Given the description of an element on the screen output the (x, y) to click on. 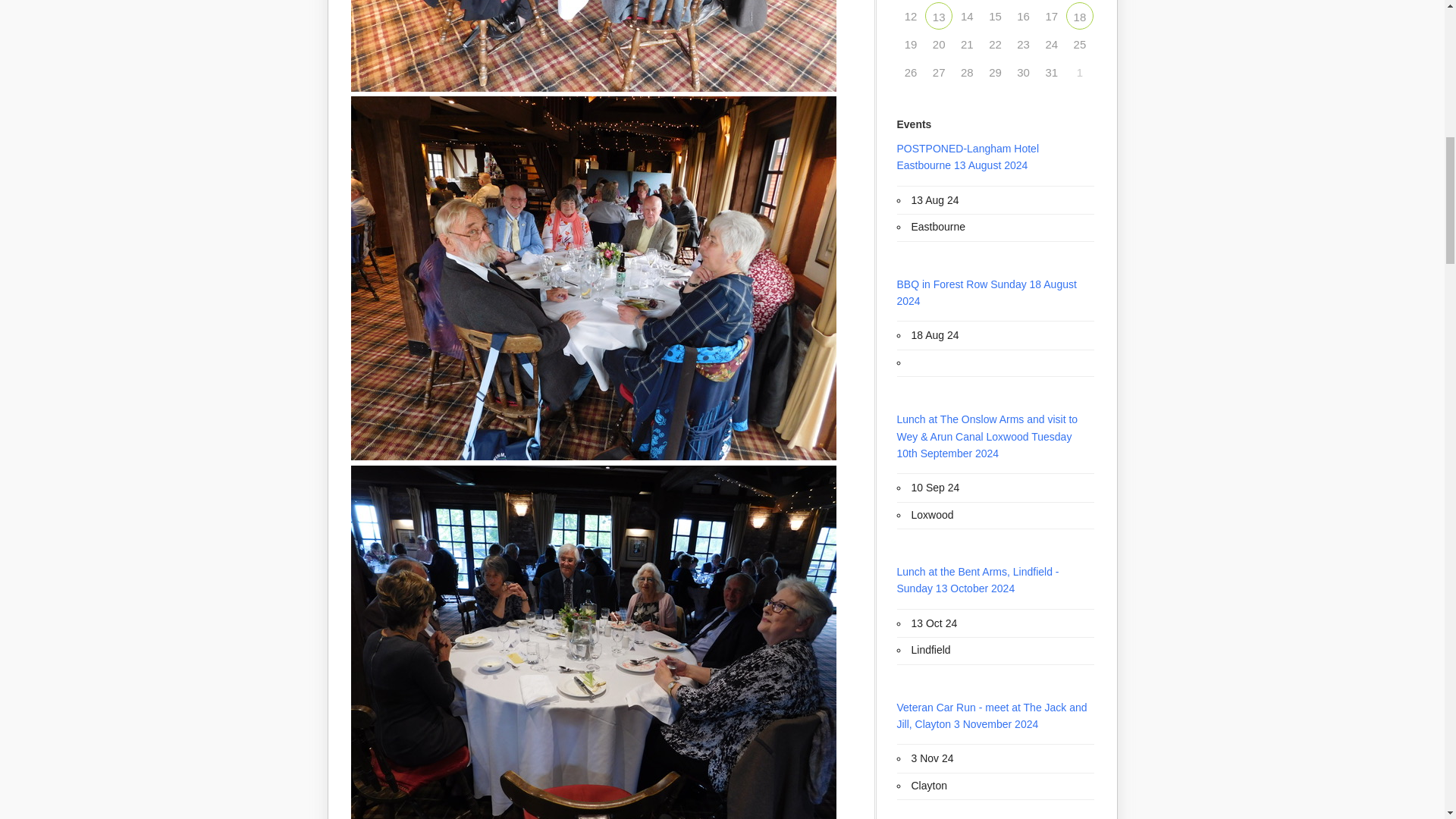
13 (938, 15)
18 (1079, 15)
BBQ in Forest Row Sunday 18 August 2024 (1079, 15)
POSTPONED-Langham Hotel Eastbourne 13 August 2024 (938, 15)
